Given the description of an element on the screen output the (x, y) to click on. 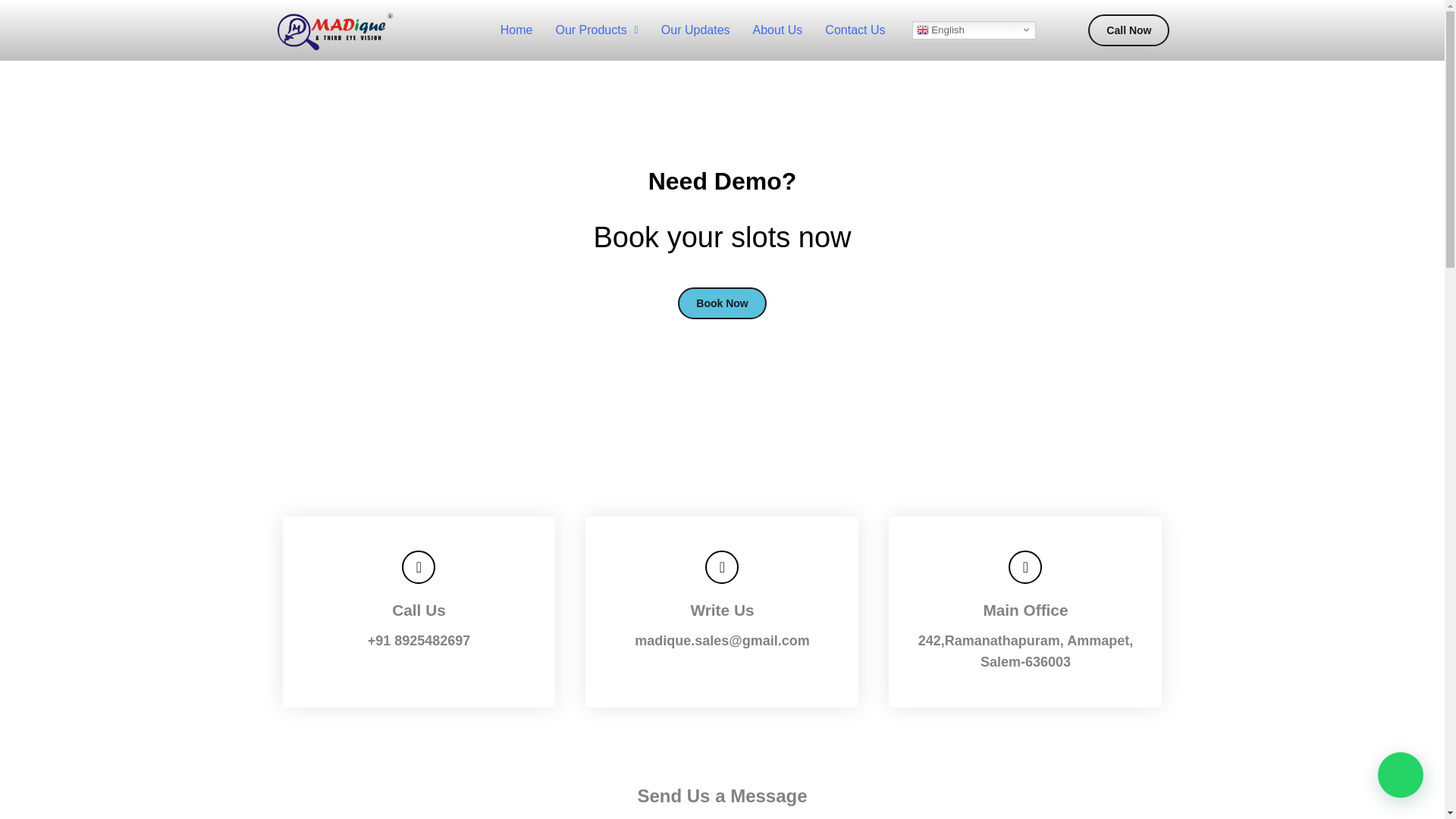
Our Updates (695, 30)
Home (516, 30)
Contact Us (854, 30)
Our Products (596, 30)
Call Now (1128, 29)
About Us (777, 30)
Book Now (721, 303)
English (973, 30)
